Given the description of an element on the screen output the (x, y) to click on. 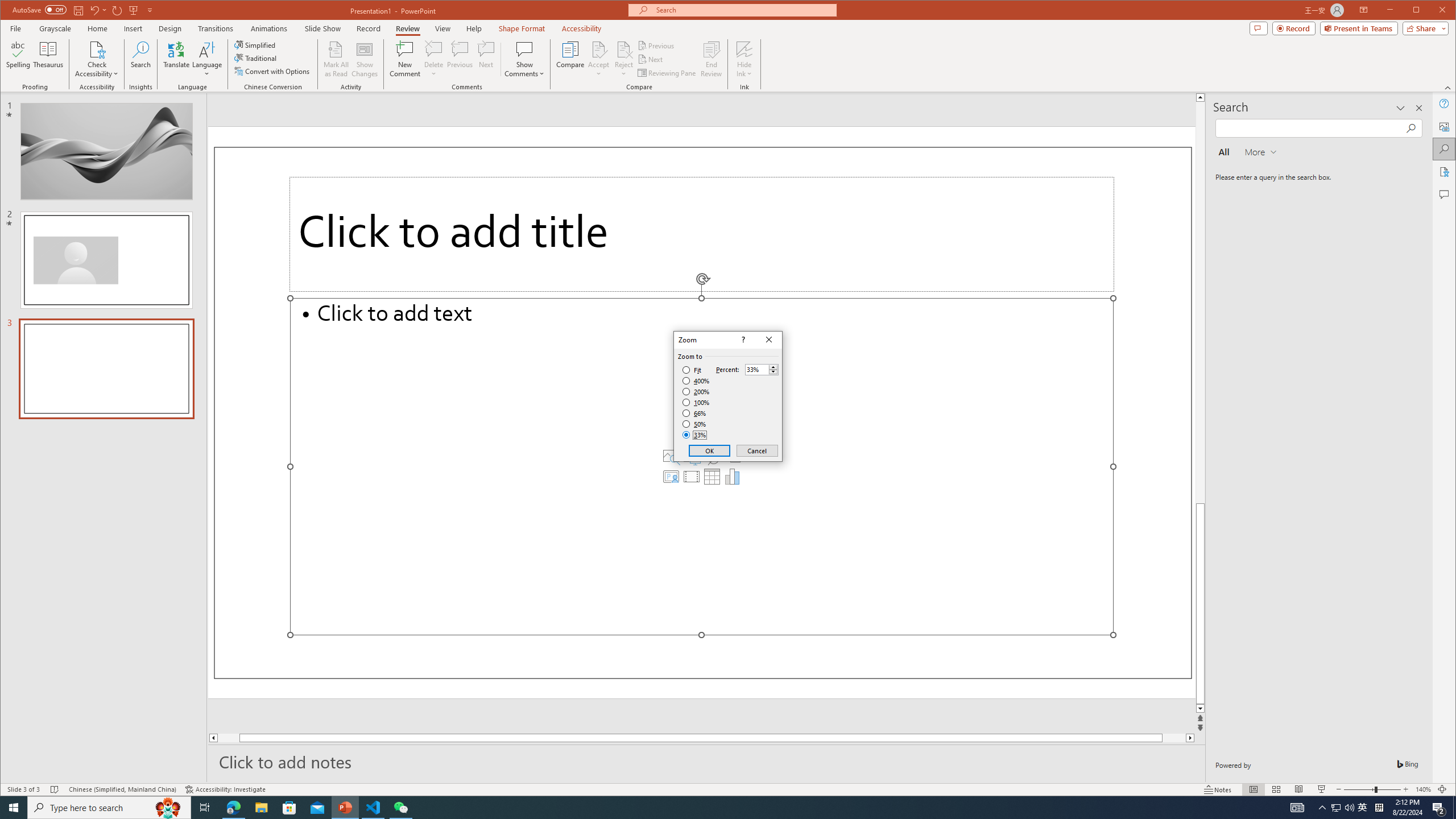
Mark All as Read (335, 59)
50% (694, 424)
Reviewing Pane (667, 72)
Convert with Options... (272, 70)
